Given the description of an element on the screen output the (x, y) to click on. 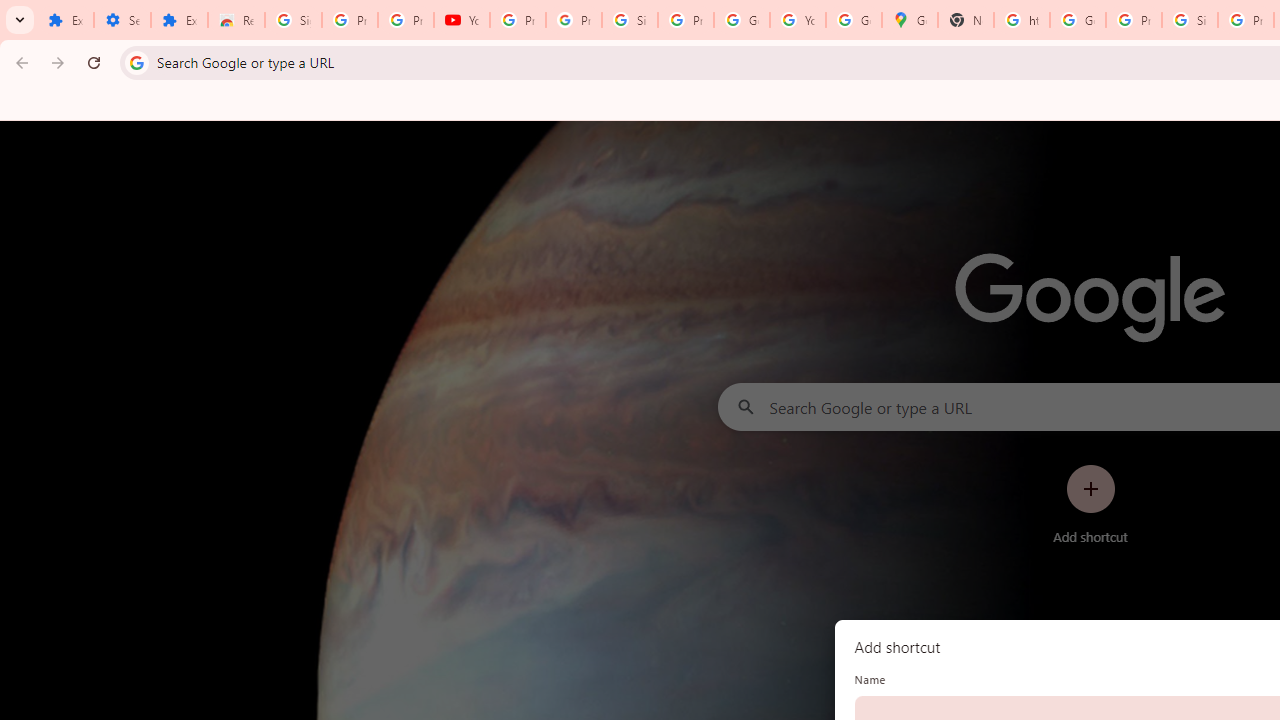
Sign in - Google Accounts (629, 20)
https://scholar.google.com/ (1021, 20)
Google Account (742, 20)
Reviews: Helix Fruit Jump Arcade Game (235, 20)
Settings (122, 20)
Google Maps (909, 20)
Extensions (179, 20)
